Given the description of an element on the screen output the (x, y) to click on. 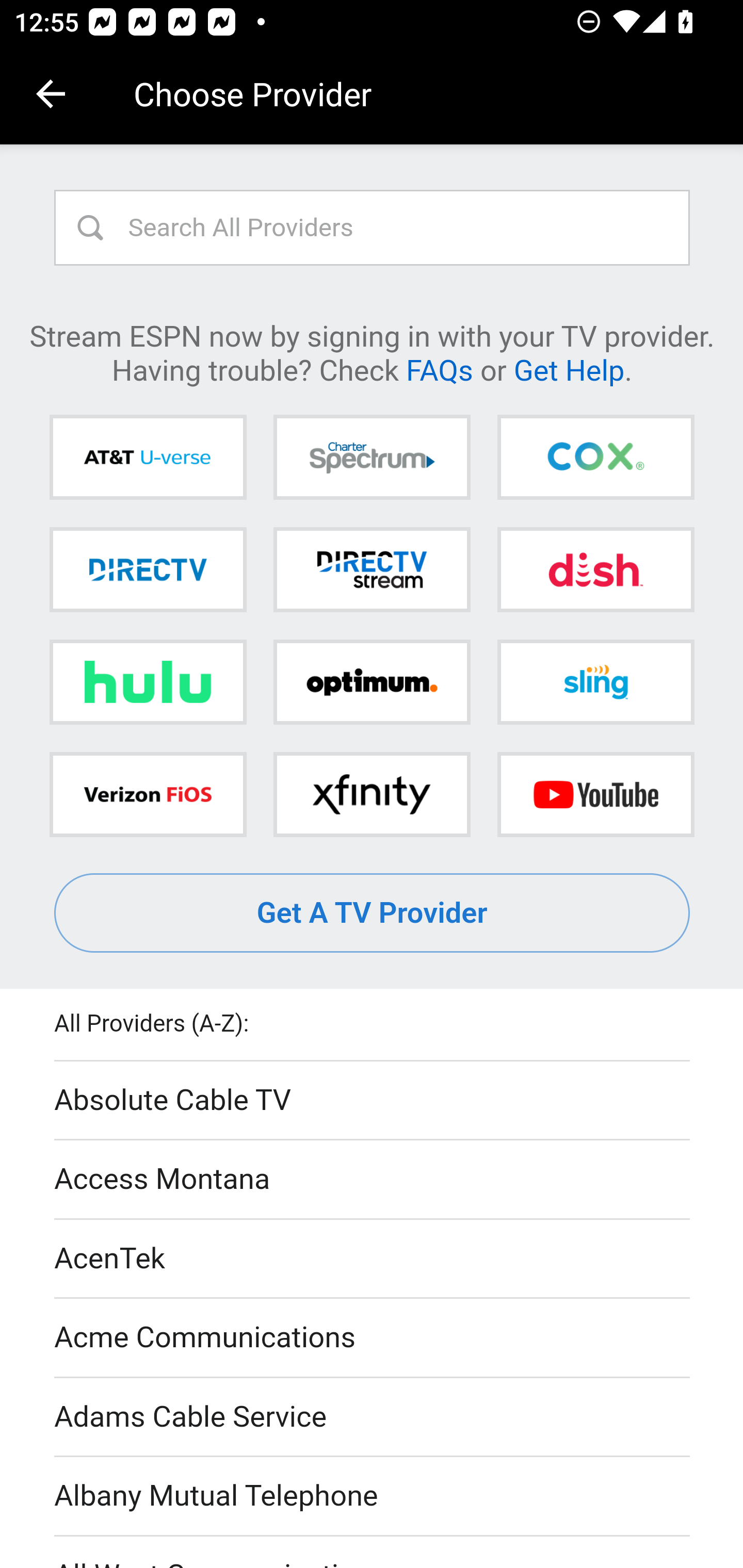
Navigate up (50, 93)
FAQs (438, 369)
Get Help (569, 369)
AT&T U-verse (147, 457)
Charter Spectrum (371, 457)
Cox (595, 457)
DIRECTV (147, 568)
DIRECTV STREAM (371, 568)
DISH (595, 568)
Hulu (147, 681)
Optimum (371, 681)
Sling TV (595, 681)
Verizon FiOS (147, 793)
Xfinity (371, 793)
YouTube TV (595, 793)
Get A TV Provider (372, 912)
Absolute Cable TV (372, 1100)
Access Montana (372, 1178)
AcenTek (372, 1258)
Acme Communications (372, 1338)
Adams Cable Service (372, 1417)
Albany Mutual Telephone (372, 1497)
